Given the description of an element on the screen output the (x, y) to click on. 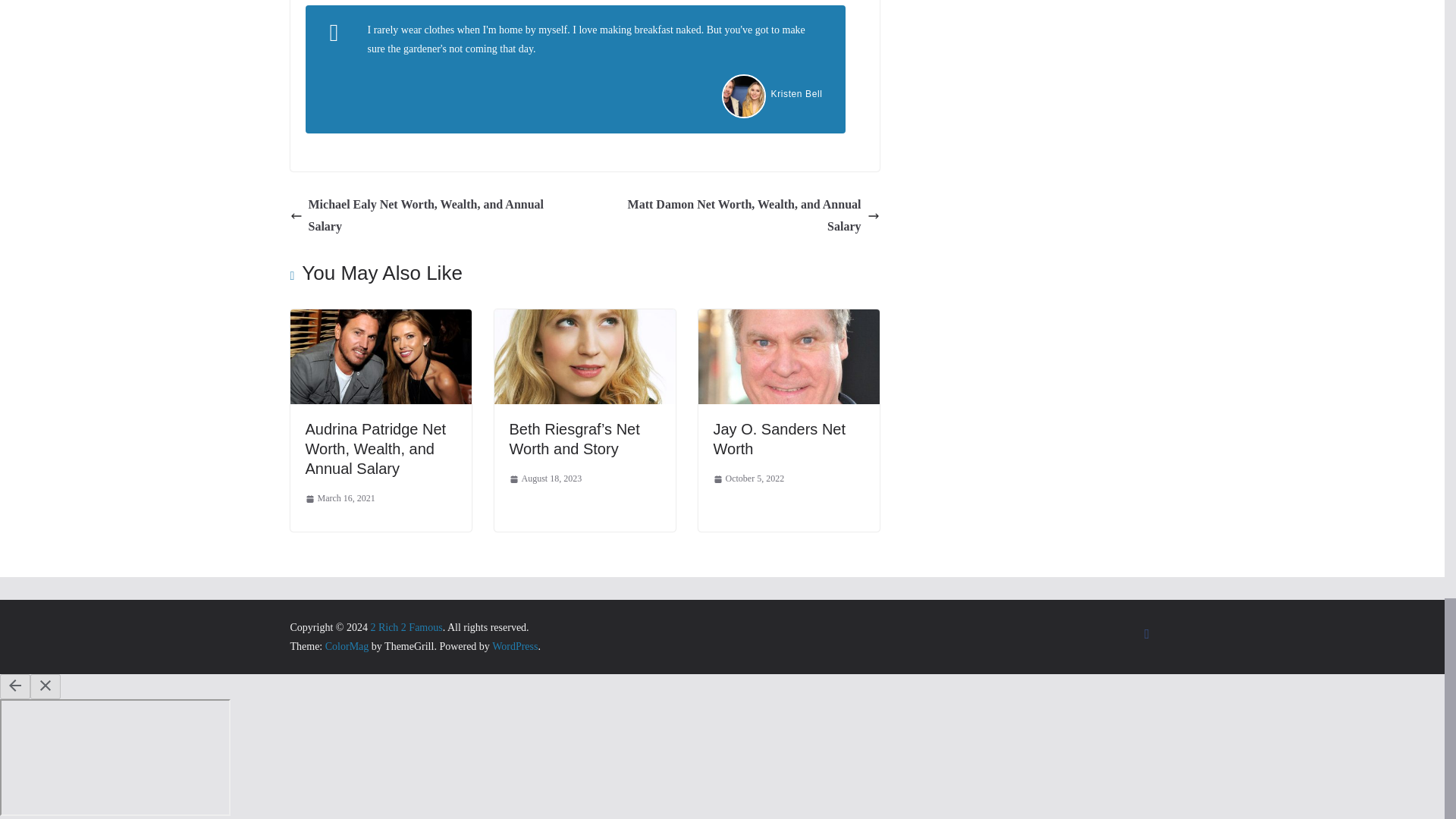
Michael Ealy Net Worth, Wealth, and Annual Salary (432, 216)
Audrina Patridge Net Worth, Wealth, and Annual Salary (374, 448)
7:15 pm (545, 478)
12:00 am (339, 498)
Audrina Patridge Net Worth, Wealth, and Annual Salary (374, 448)
Audrina Patridge Net Worth, Wealth, and Annual Salary (379, 318)
March 16, 2021 (339, 498)
Matt Damon Net Worth, Wealth, and Annual Salary (735, 216)
